Given the description of an element on the screen output the (x, y) to click on. 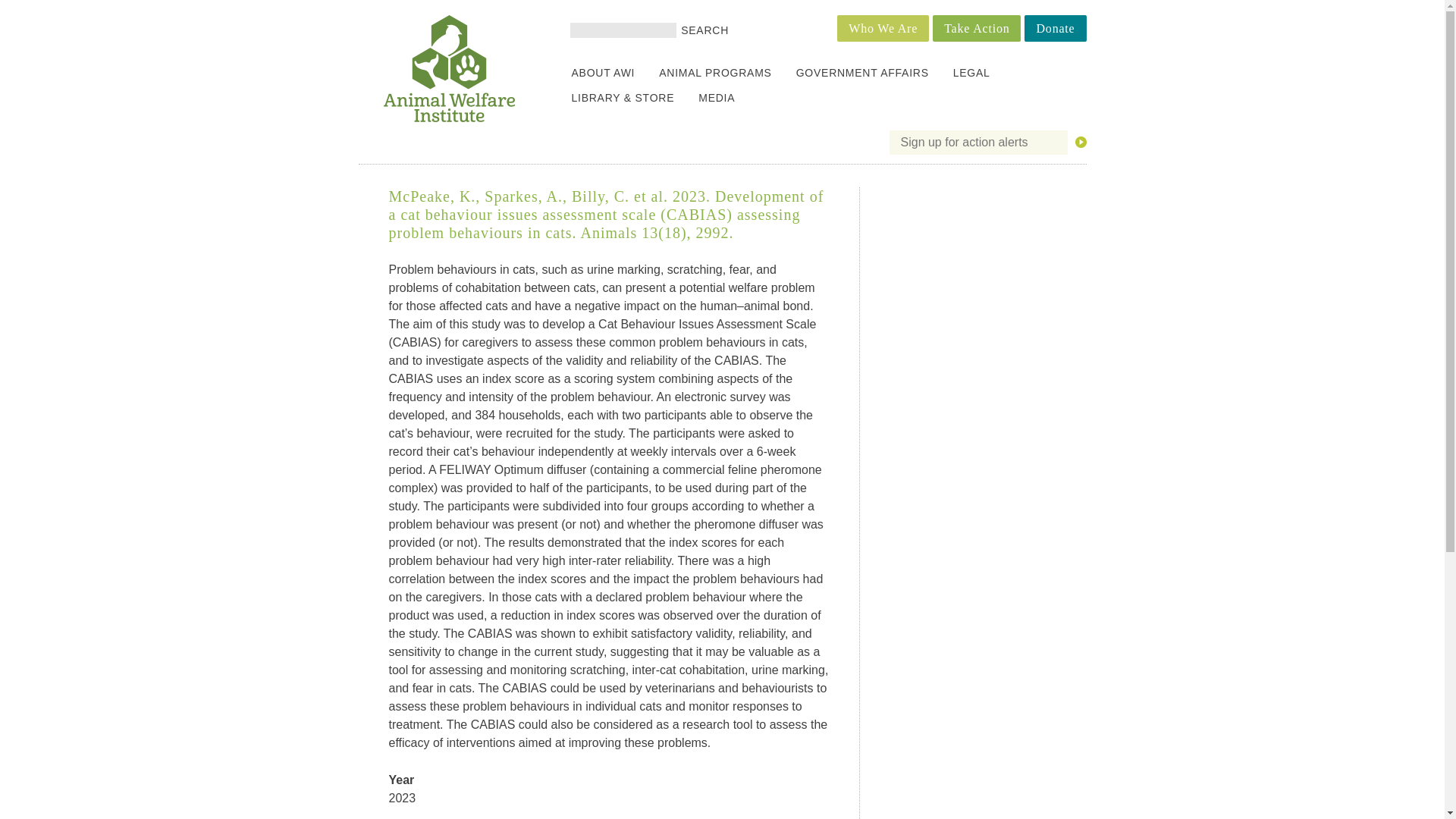
Search (705, 30)
Home (449, 117)
